Given the description of an element on the screen output the (x, y) to click on. 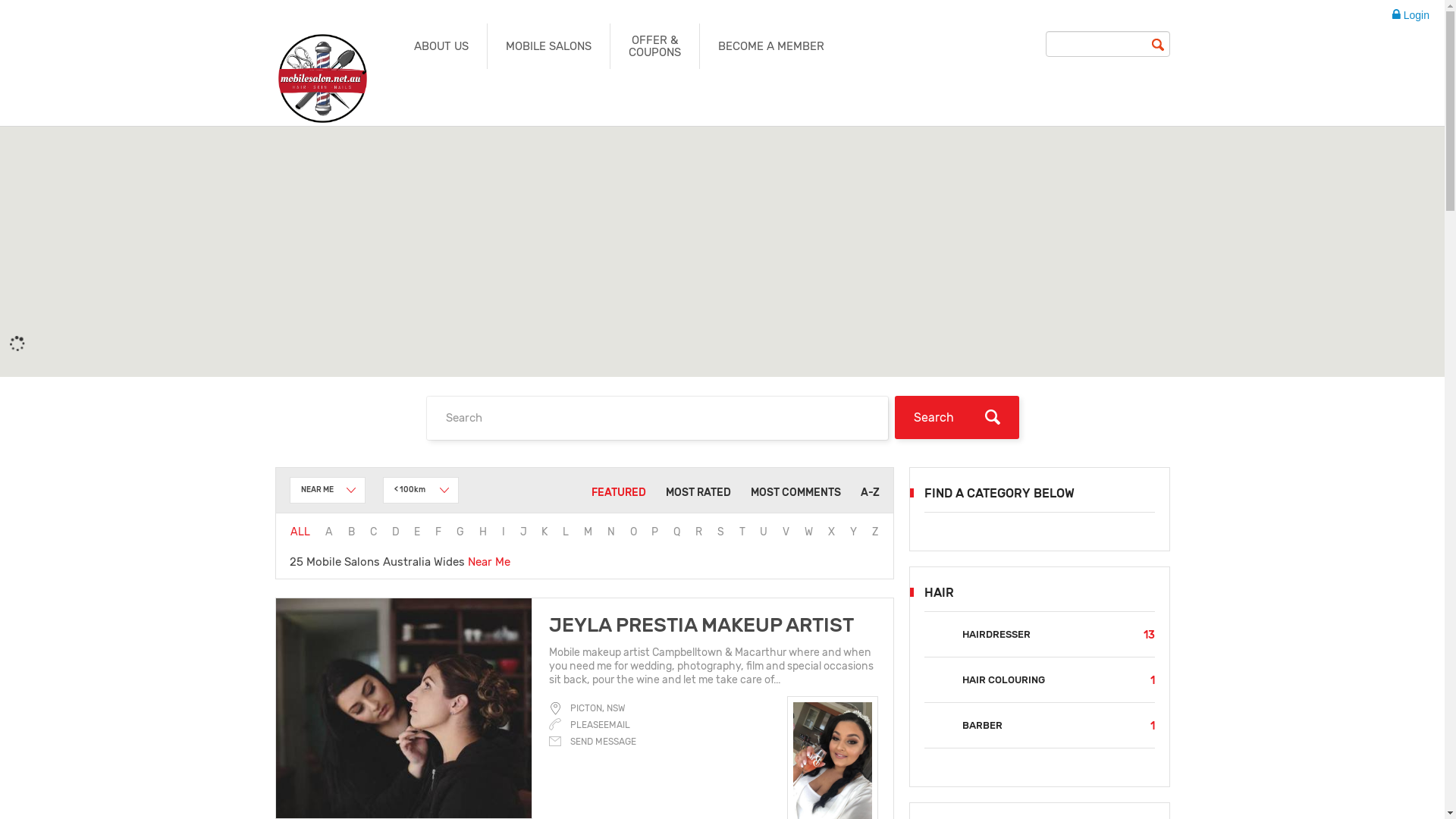
PLEASEEMAIL Element type: text (600, 724)
X Element type: text (831, 531)
SEND MESSAGE Element type: text (592, 741)
J Element type: text (523, 531)
HAIRDRESSER
13 Element type: text (1038, 633)
H Element type: text (482, 531)
MOST RATED Element type: text (698, 492)
D Element type: text (395, 531)
M Element type: text (587, 531)
OFFER &
COUPONS Element type: text (654, 46)
Y Element type: text (853, 531)
V Element type: text (785, 531)
MOST COMMENTS Element type: text (795, 492)
G Element type: text (460, 531)
K Element type: text (544, 531)
ALL Element type: text (300, 531)
HAIR COLOURING
1 Element type: text (1038, 679)
MOBILE SALONS Element type: text (548, 46)
Search Element type: text (956, 417)
F Element type: text (438, 531)
Q Element type: text (676, 531)
U Element type: text (763, 531)
I Element type: text (503, 531)
FEATURED Element type: text (618, 492)
NEAR ME
  Element type: text (327, 489)
R Element type: text (698, 531)
BECOME A MEMBER Element type: text (770, 46)
W Element type: text (808, 531)
N Element type: text (611, 531)
O Element type: text (633, 531)
ABOUT US Element type: text (440, 46)
T Element type: text (742, 531)
S Element type: text (720, 531)
C Element type: text (373, 531)
P Element type: text (654, 531)
E Element type: text (417, 531)
Z Element type: text (875, 531)
B Element type: text (351, 531)
A-Z Element type: text (868, 492)
L Element type: text (565, 531)
JEYLA PRESTIA MAKEUP ARTIST Element type: text (701, 625)
Login Element type: text (1410, 15)
A Element type: text (328, 531)
< 100km
  Element type: text (420, 489)
BARBER
1 Element type: text (1038, 724)
